Given the description of an element on the screen output the (x, y) to click on. 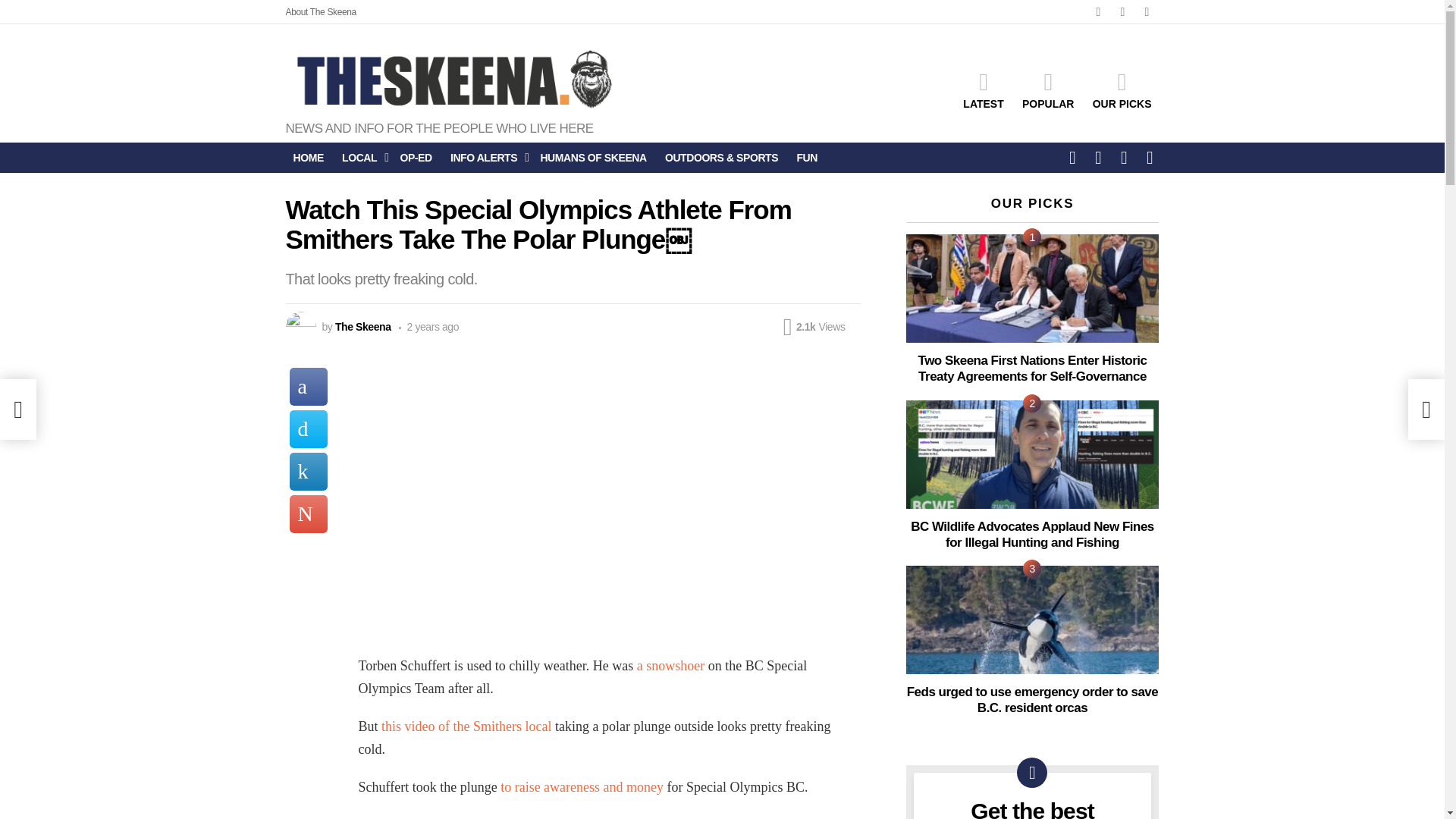
OP-ED (415, 157)
facebook (1097, 11)
LOCAL (361, 157)
About The Skeena (320, 12)
Follow us (1071, 157)
HUMANS OF SKEENA (592, 157)
FOLLOW US (1071, 157)
CART (1149, 157)
March 10, 2022, 9:08 am (429, 326)
Share on Facebook (308, 386)
twitter (1121, 11)
OUR PICKS (1121, 89)
FUN (807, 157)
